Given the description of an element on the screen output the (x, y) to click on. 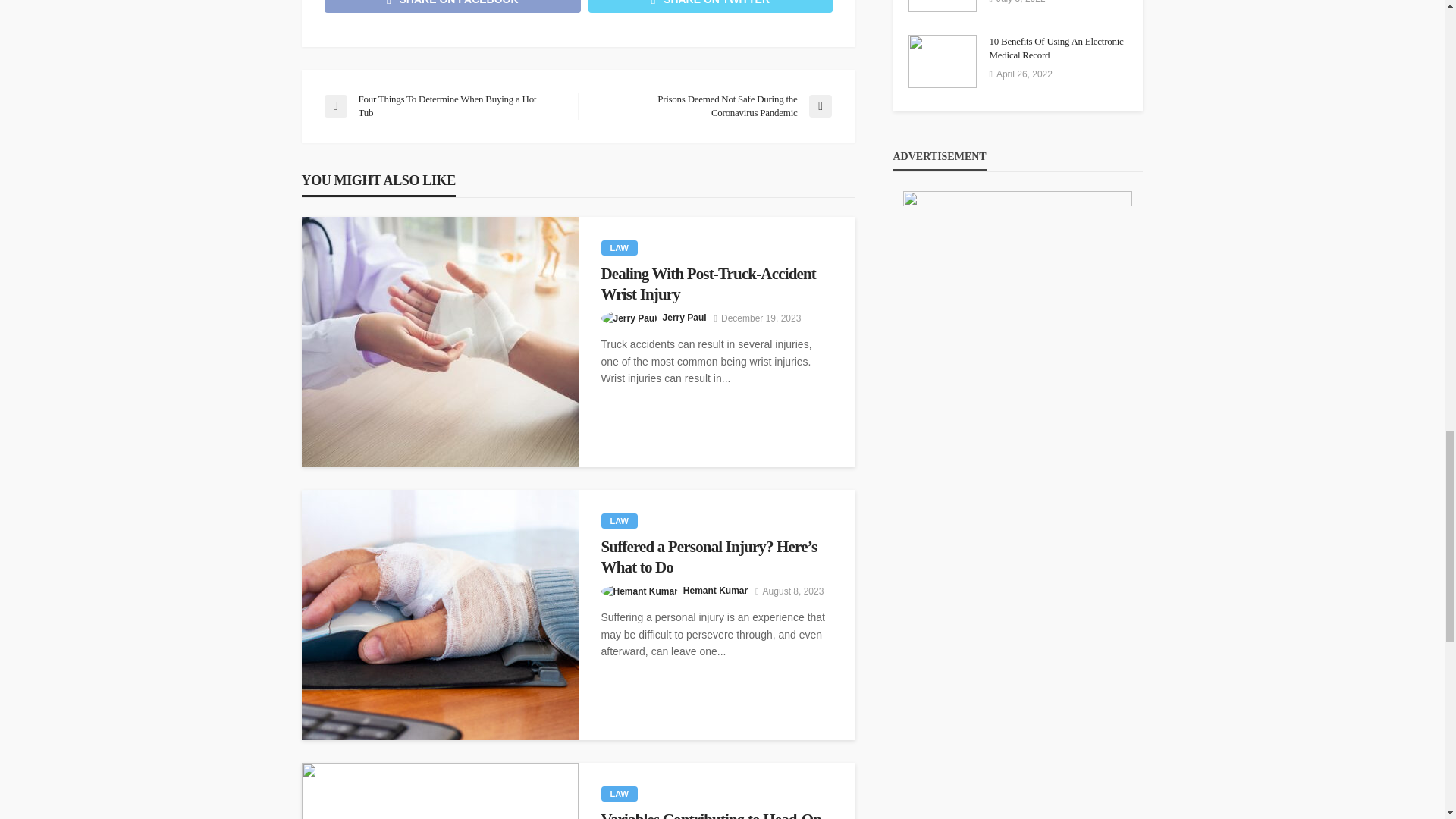
Law (618, 520)
Dealing With Post-Truck-Accident Wrist Injury (715, 283)
Prisons Deemed Not Safe During the Coronavirus Pandemic (711, 105)
Dealing With Post-Truck-Accident Wrist Injury (439, 341)
Dealing With Post-Truck-Accident Wrist Injury (715, 283)
Four Things To Determine When Buying a Hot Tub (443, 105)
Four Things To Determine When Buying a Hot Tub (443, 105)
LAW (618, 247)
SHARE ON FACEBOOK (452, 6)
Prisons Deemed Not Safe During the Coronavirus Pandemic (711, 105)
SHARE ON TWITTER (709, 6)
Law (618, 247)
